Given the description of an element on the screen output the (x, y) to click on. 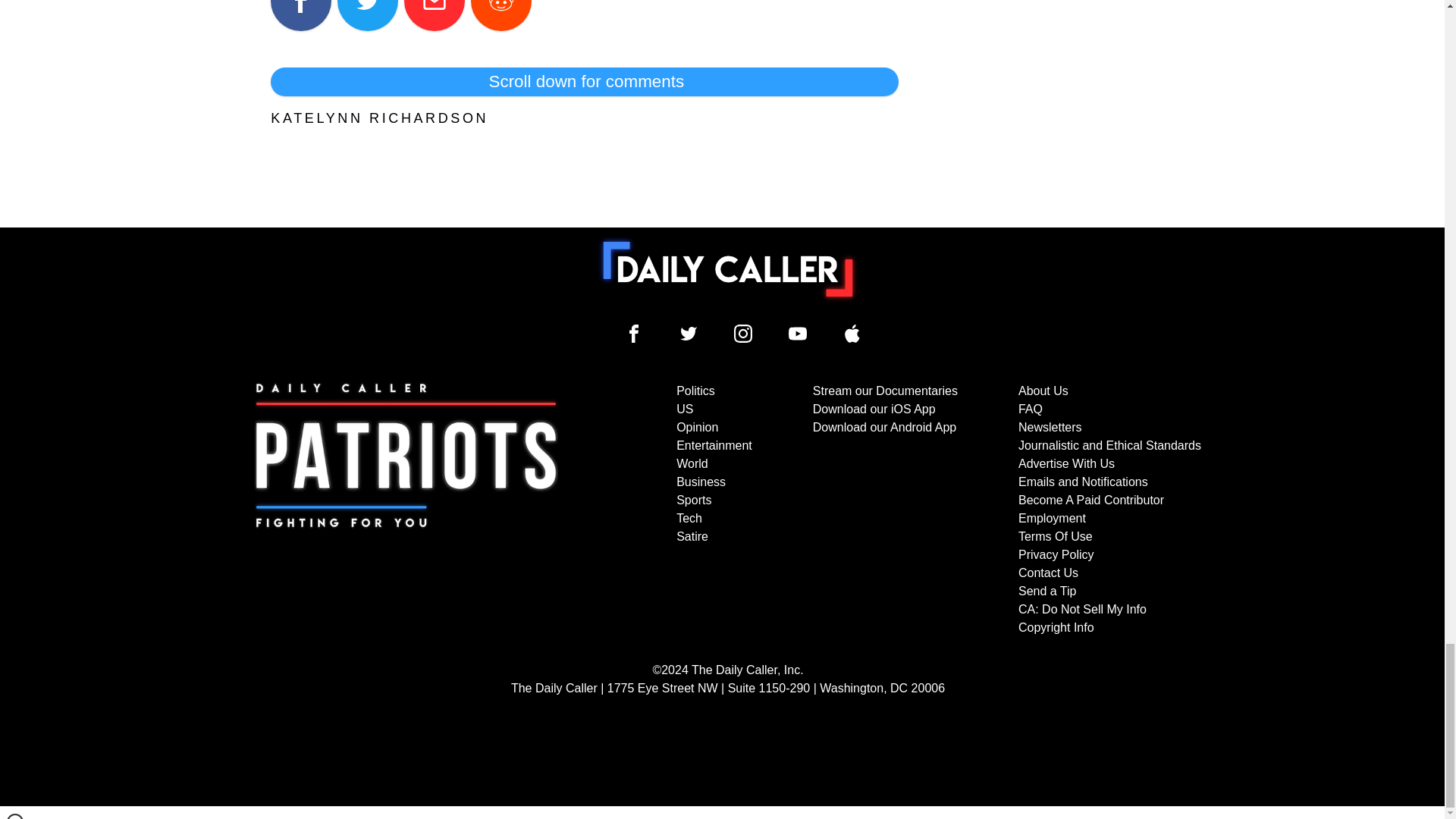
To home page (727, 268)
Scroll down for comments (584, 81)
Daily Caller Facebook (633, 333)
Daily Caller Twitter (688, 333)
Subscribe to The Daily Caller (405, 509)
Daily Caller YouTube (797, 333)
Daily Caller YouTube (852, 333)
Daily Caller Instagram (742, 333)
